Given the description of an element on the screen output the (x, y) to click on. 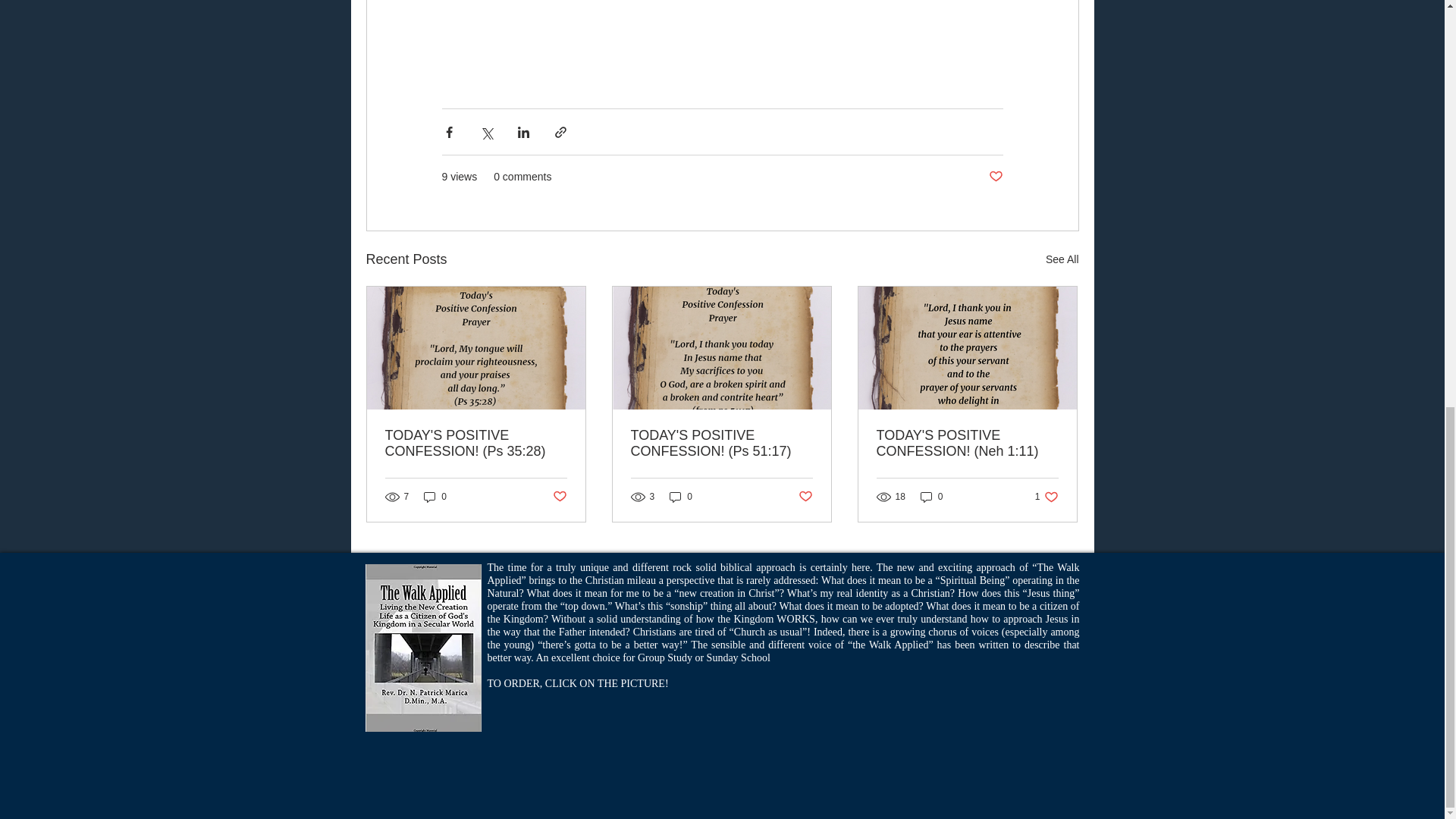
See All (1061, 259)
0 (931, 496)
Post not marked as liked (804, 496)
0 (681, 496)
0 (1046, 496)
Post not marked as liked (435, 496)
Post not marked as liked (558, 496)
